Given the description of an element on the screen output the (x, y) to click on. 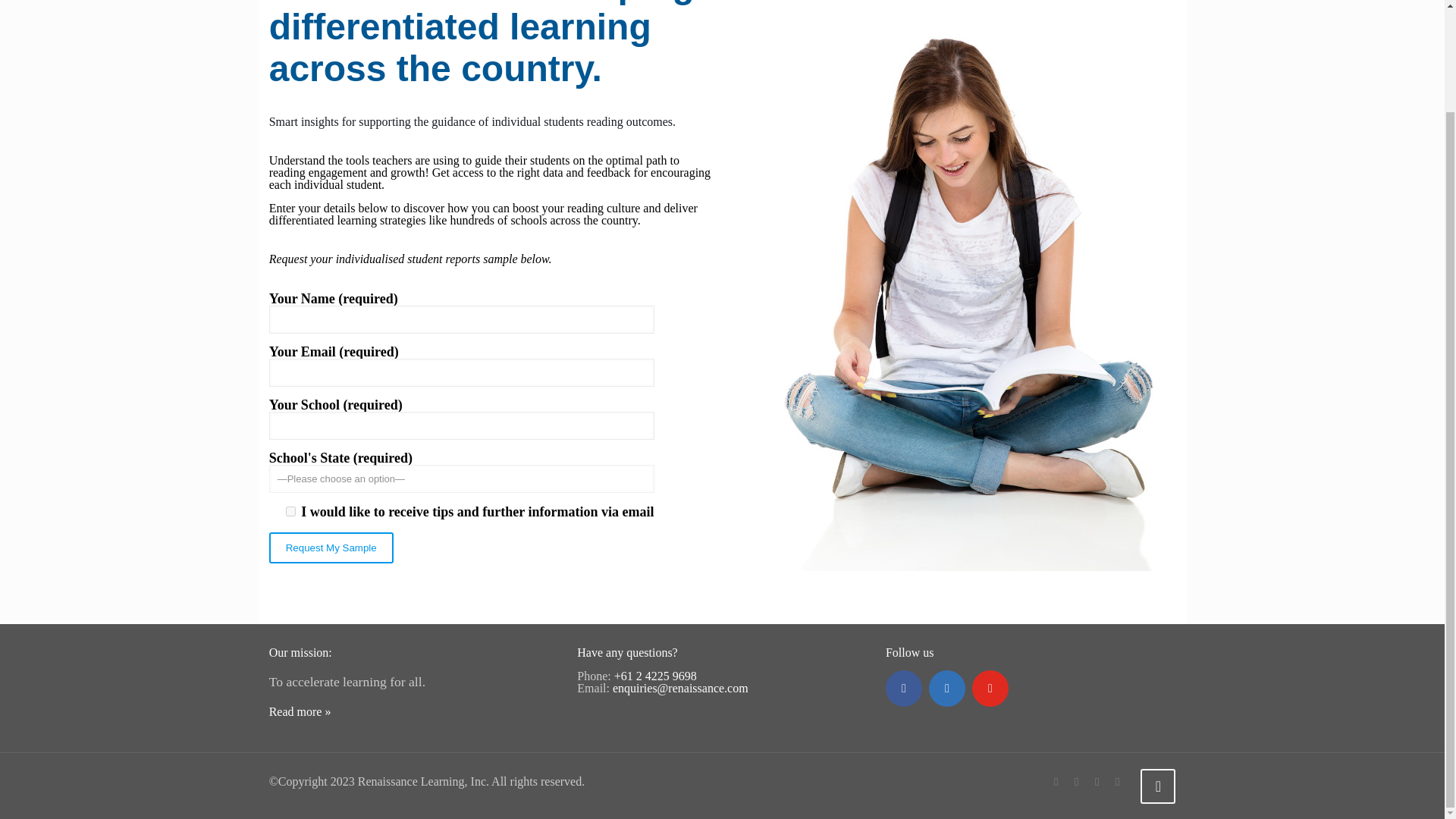
LinkedIn (1097, 781)
Facebook (1056, 781)
Request My Sample (331, 547)
Linkedin (946, 688)
Pinterest (1117, 781)
YouTube (1076, 781)
Facebook (903, 688)
YouTube (990, 688)
